Given the description of an element on the screen output the (x, y) to click on. 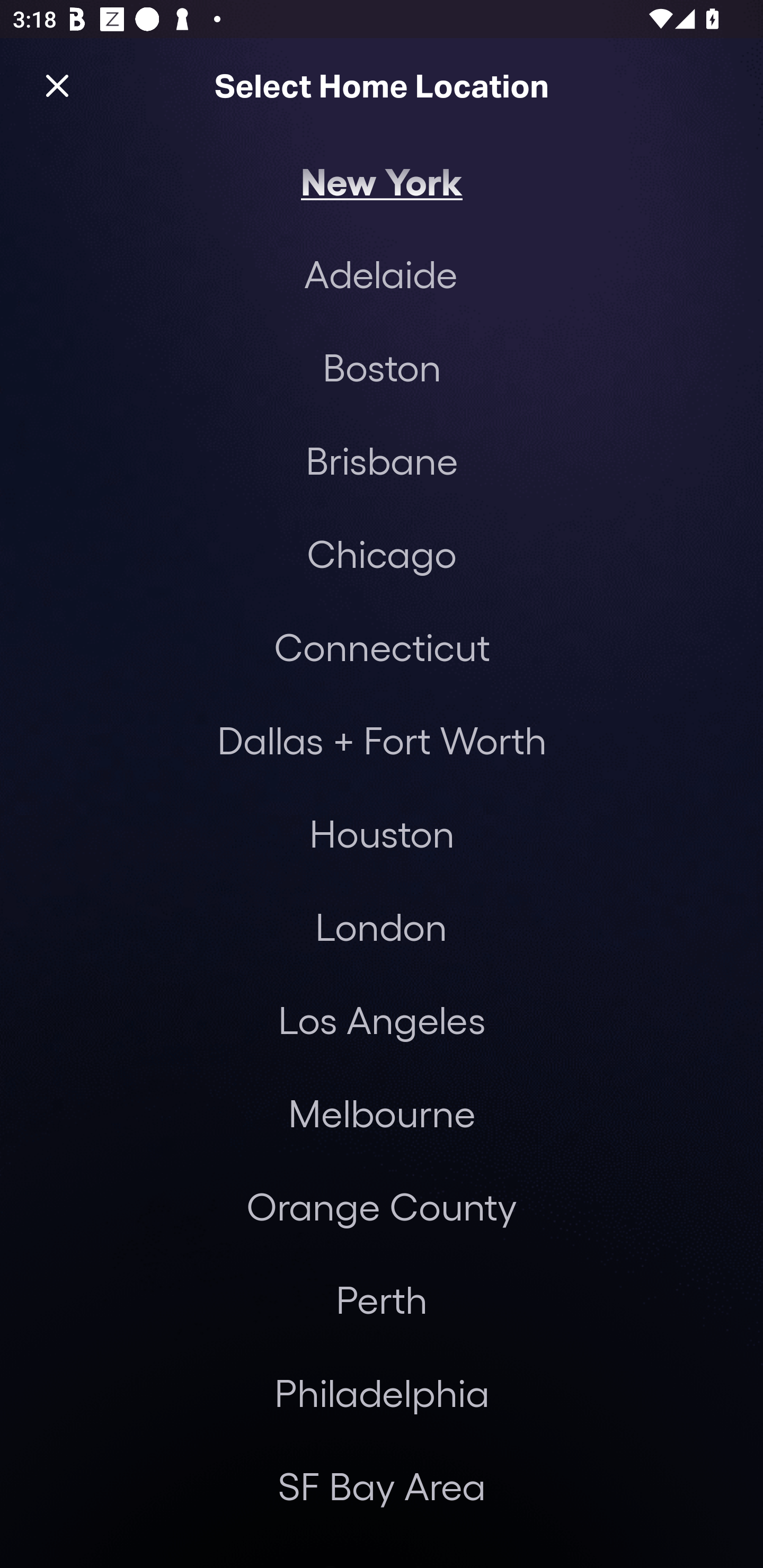
Close (57, 85)
New York (381, 180)
Adelaide (380, 273)
Boston (381, 366)
Brisbane (381, 459)
Chicago (381, 553)
Connecticut (381, 646)
Dallas + Fort Worth (381, 740)
Houston (381, 833)
London (380, 926)
Los Angeles (381, 1019)
Melbourne (381, 1113)
Orange County (381, 1206)
Perth (381, 1298)
Philadelphia (381, 1392)
SF Bay Area (381, 1485)
